Given the description of an element on the screen output the (x, y) to click on. 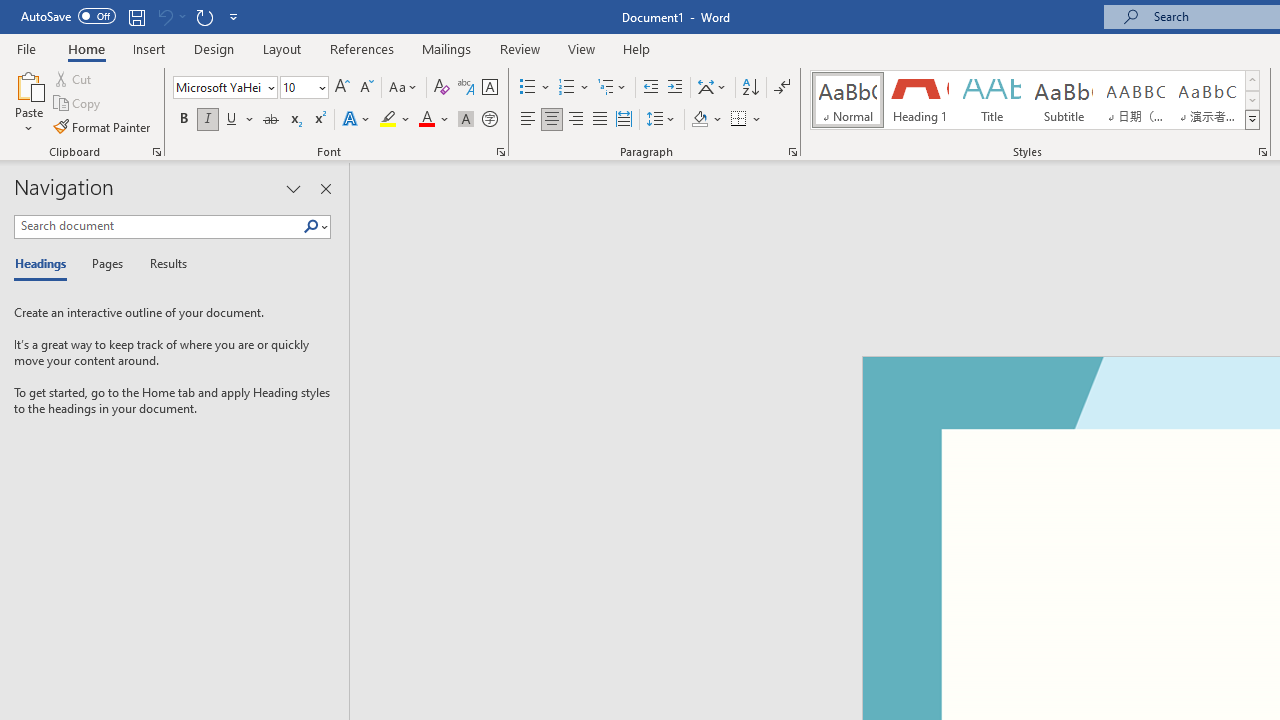
AutomationID: QuickStylesGallery (1035, 99)
Title (991, 100)
Subtitle (1063, 100)
